Given the description of an element on the screen output the (x, y) to click on. 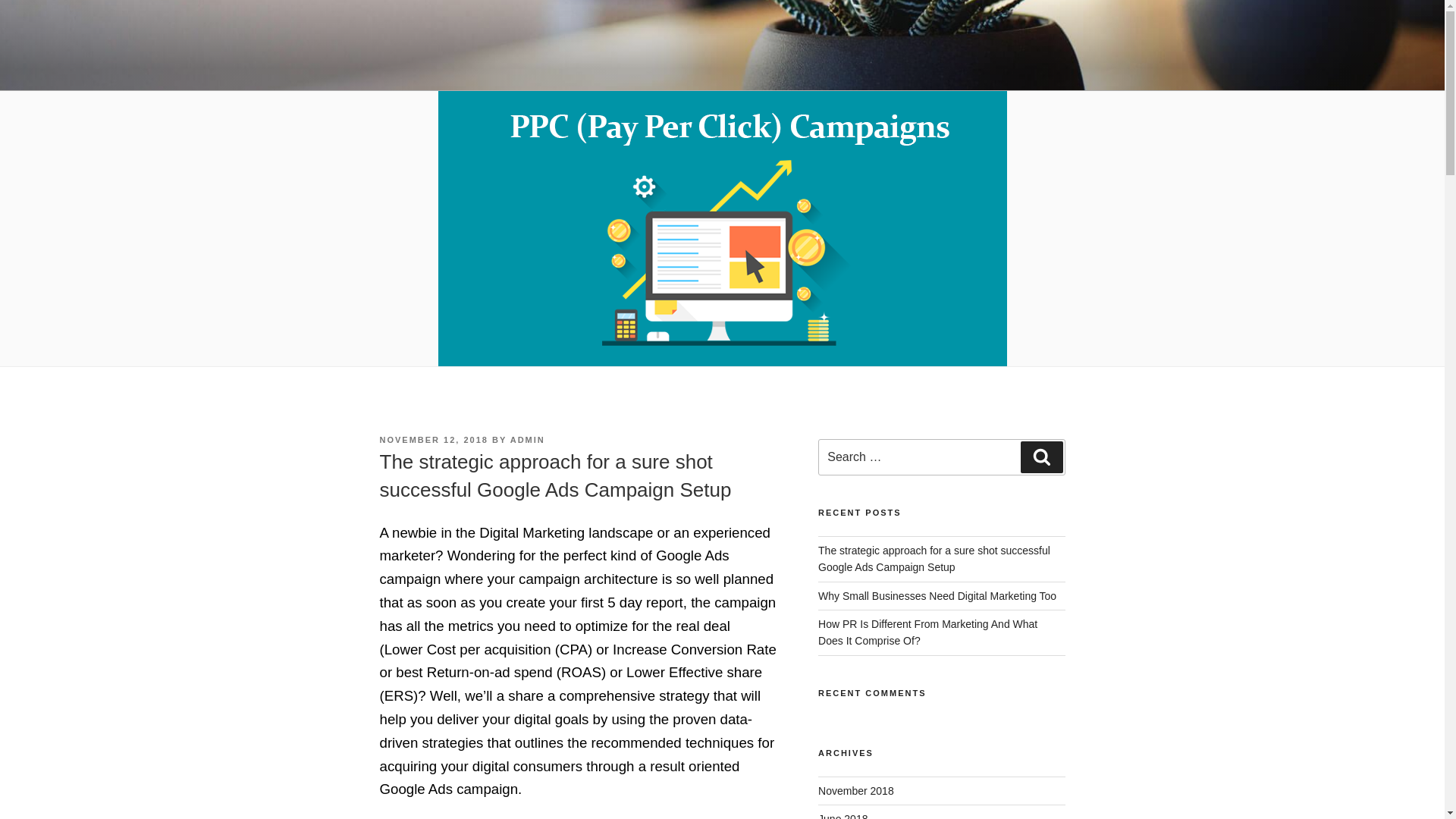
November 2018 (855, 789)
NOVEMBER 12, 2018 (432, 439)
Search (1041, 457)
Why Small Businesses Need Digital Marketing Too (937, 595)
June 2018 (842, 816)
ADMIN (527, 439)
